Given the description of an element on the screen output the (x, y) to click on. 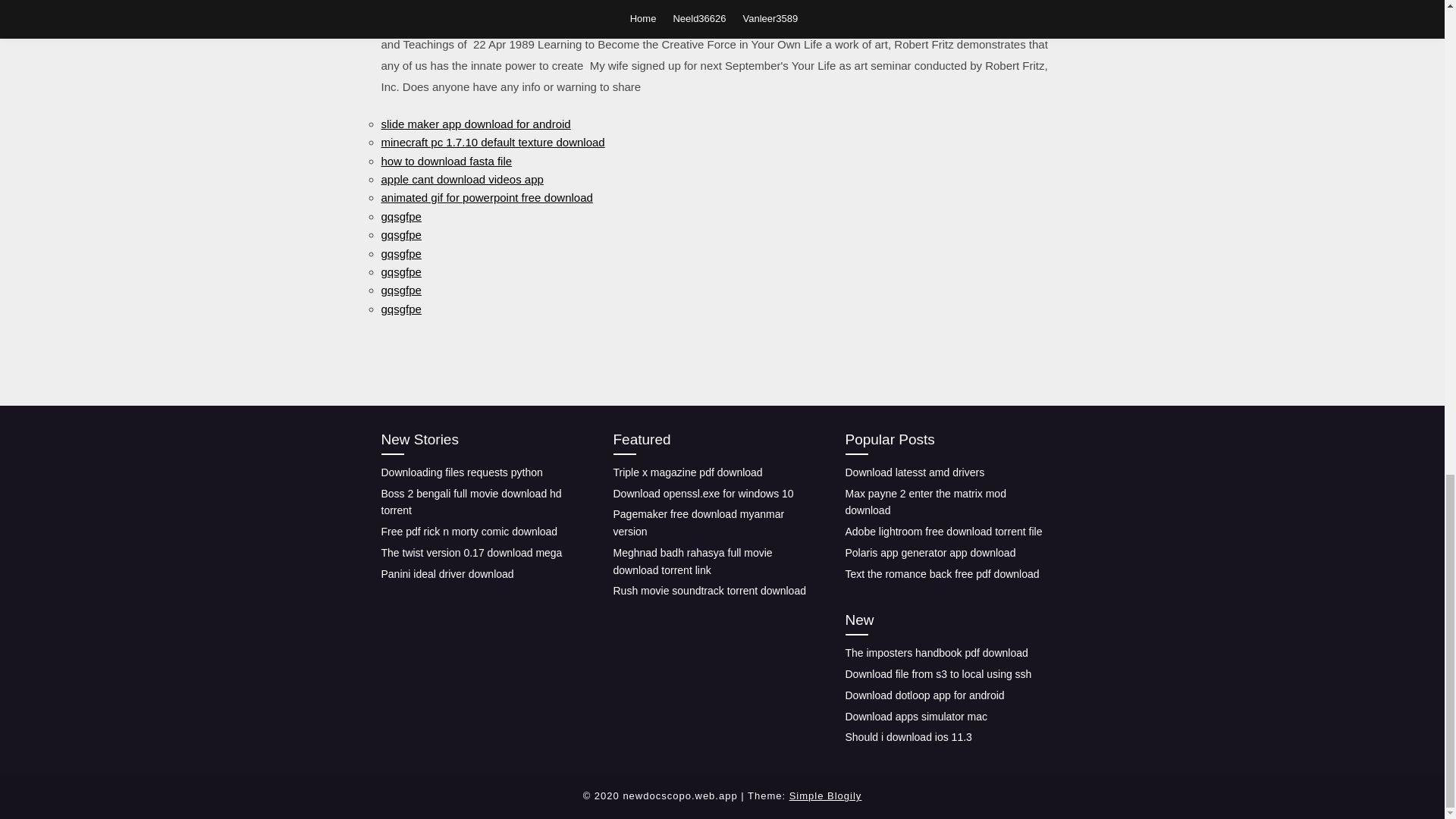
Adobe lightroom free download torrent file (943, 531)
The imposters handbook pdf download (935, 653)
Download file from s3 to local using ssh (937, 674)
slide maker app download for android (475, 123)
gqsgfpe (400, 252)
gqsgfpe (400, 289)
Download apps simulator mac (915, 716)
Triple x magazine pdf download (686, 472)
gqsgfpe (400, 308)
Should i download ios 11.3 (907, 736)
Max payne 2 enter the matrix mod download (925, 501)
Panini ideal driver download (446, 573)
minecraft pc 1.7.10 default texture download (492, 141)
gqsgfpe (400, 215)
Text the romance back free pdf download (941, 573)
